Given the description of an element on the screen output the (x, y) to click on. 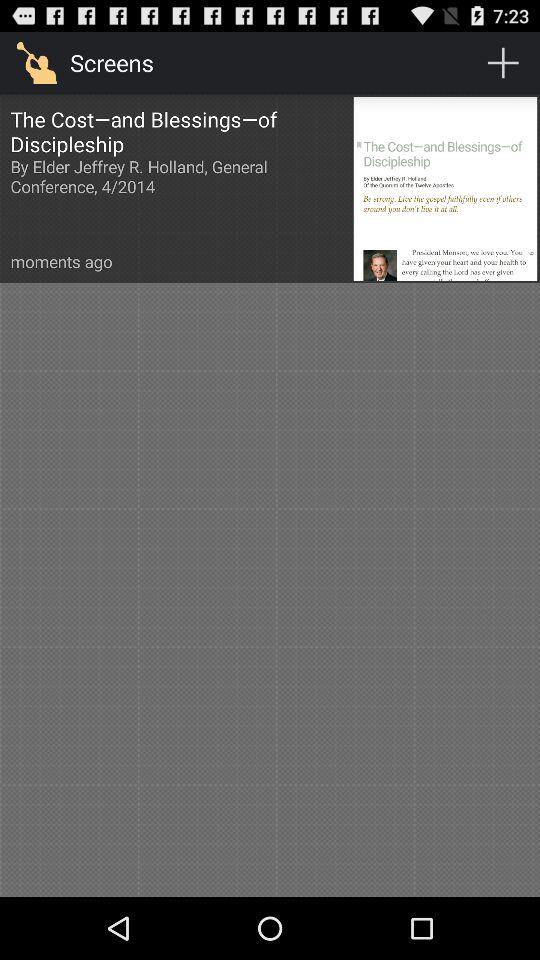
tap the icon to the right of the screens item (503, 62)
